Given the description of an element on the screen output the (x, y) to click on. 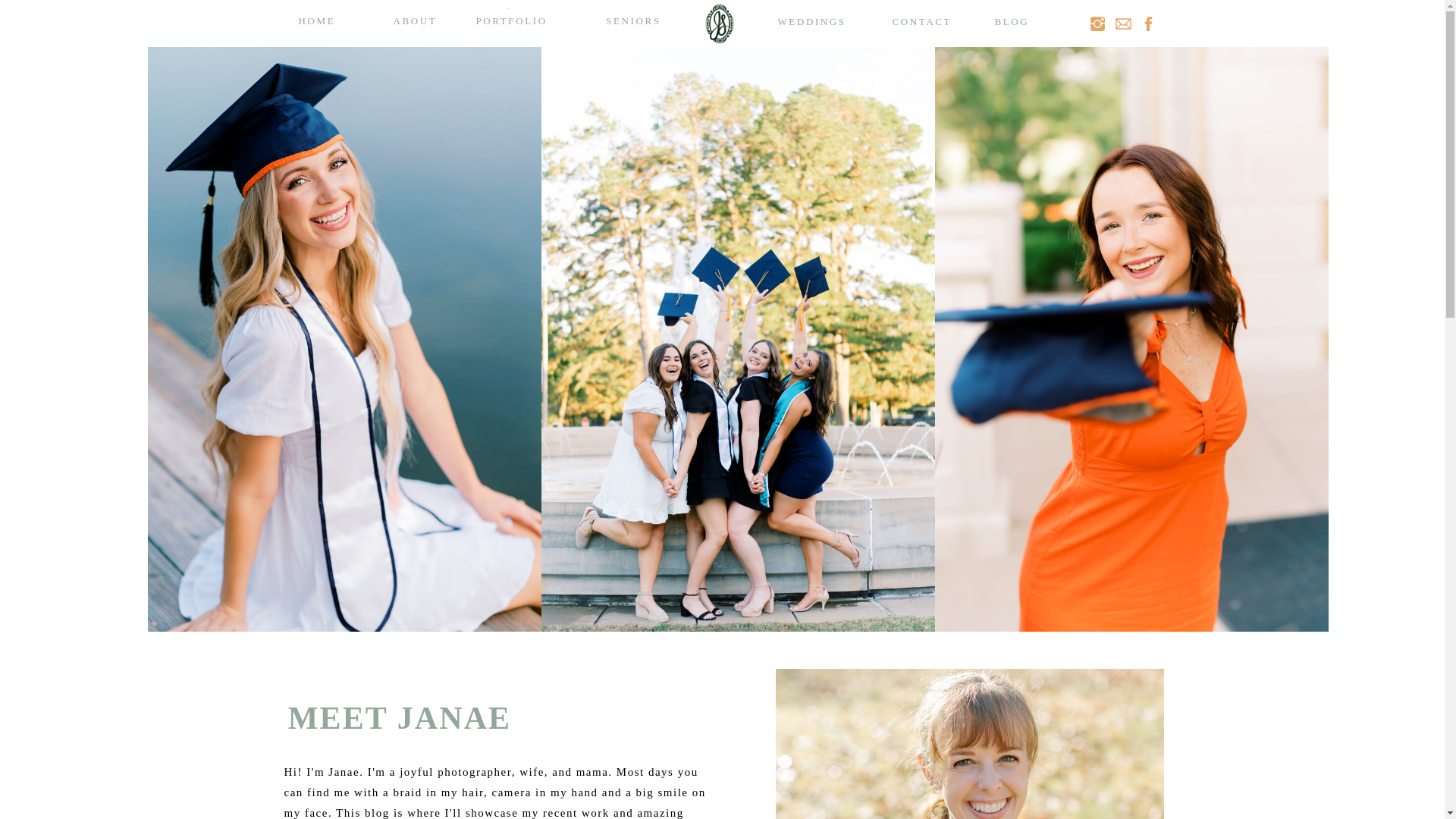
SENIORS (623, 21)
MEET JANAE (399, 710)
HOME (316, 23)
BLOG (1021, 21)
portfolio (508, 19)
ABOUT (411, 23)
CONTACT (918, 21)
PORTFOLIO (509, 23)
WEDDINGS (810, 23)
